Given the description of an element on the screen output the (x, y) to click on. 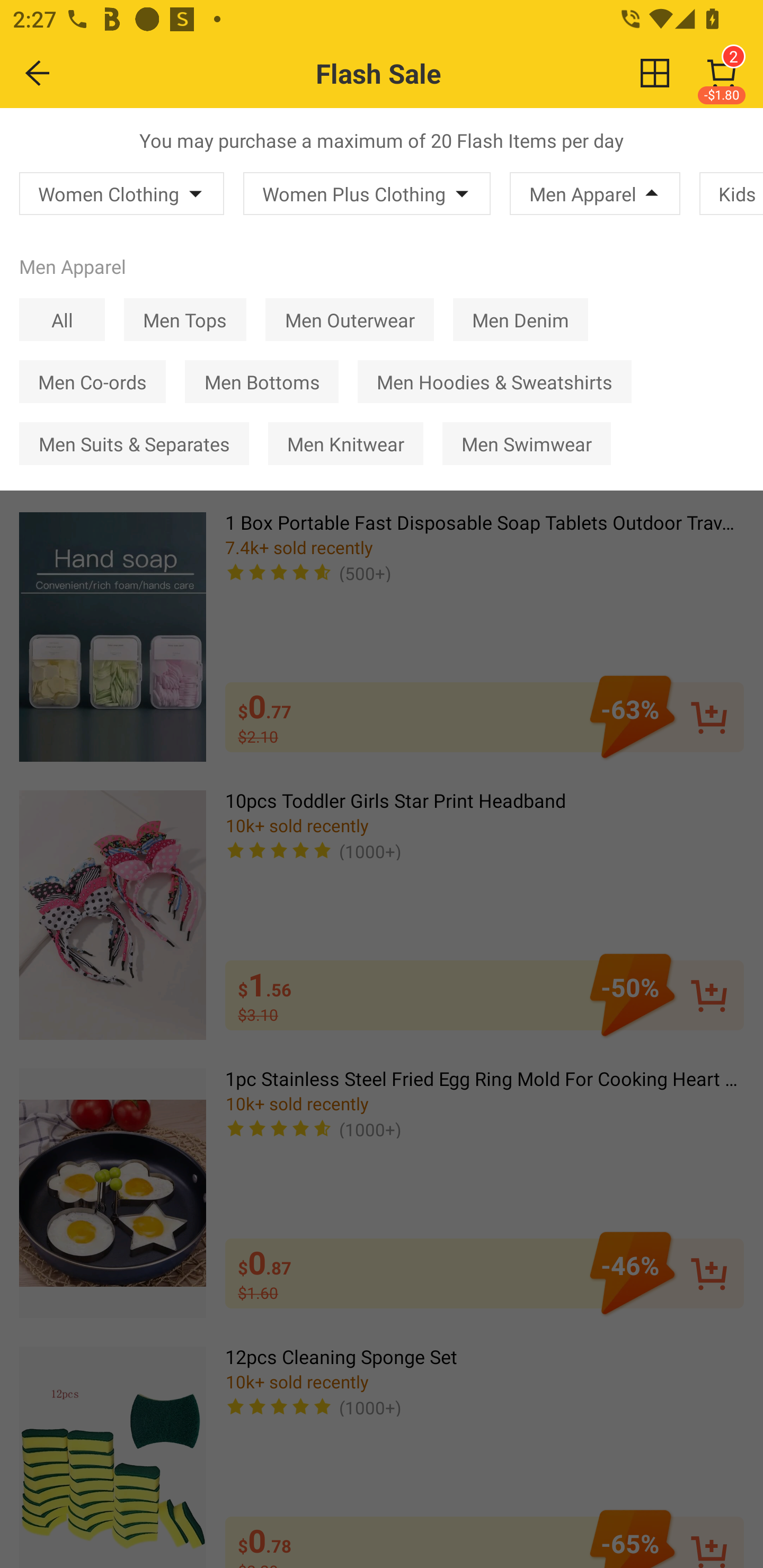
Flash Sale change view 2 -$1.80 (419, 72)
2 -$1.80 (721, 72)
change view (654, 72)
BACK (38, 72)
Women Clothing (121, 193)
Women Plus Clothing (366, 193)
Men Apparel (594, 193)
Kids (731, 193)
